Given the description of an element on the screen output the (x, y) to click on. 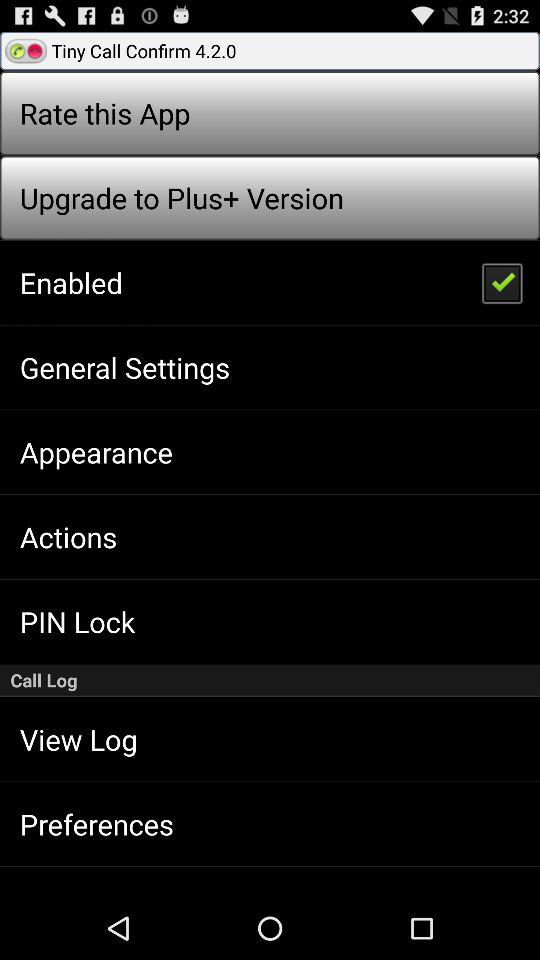
launch the app above the appearance icon (124, 367)
